Given the description of an element on the screen output the (x, y) to click on. 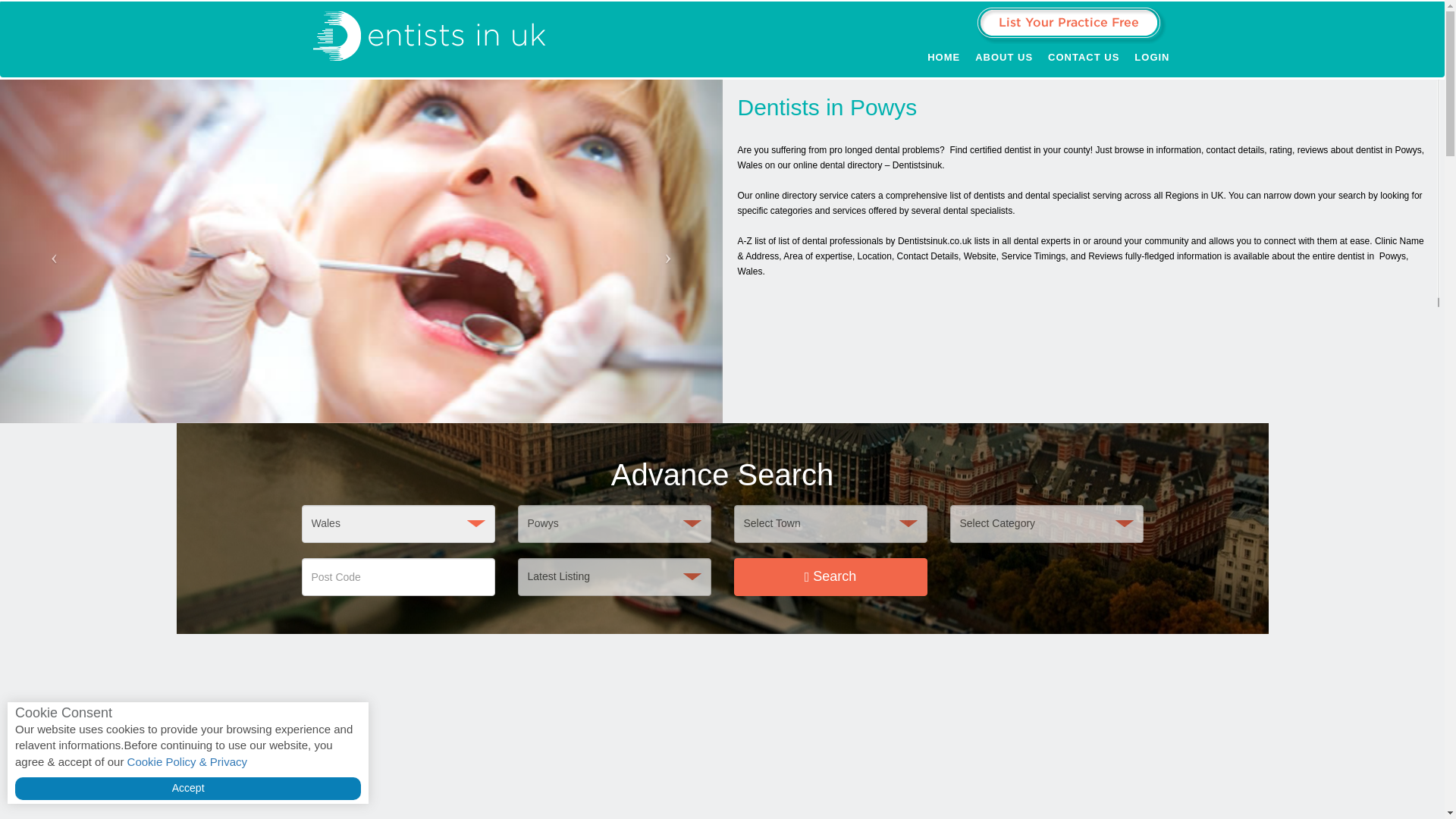
CONTACT US (1083, 60)
ABOUT US (1004, 60)
HOME (944, 60)
Search (830, 576)
LOGIN (1151, 60)
